Given the description of an element on the screen output the (x, y) to click on. 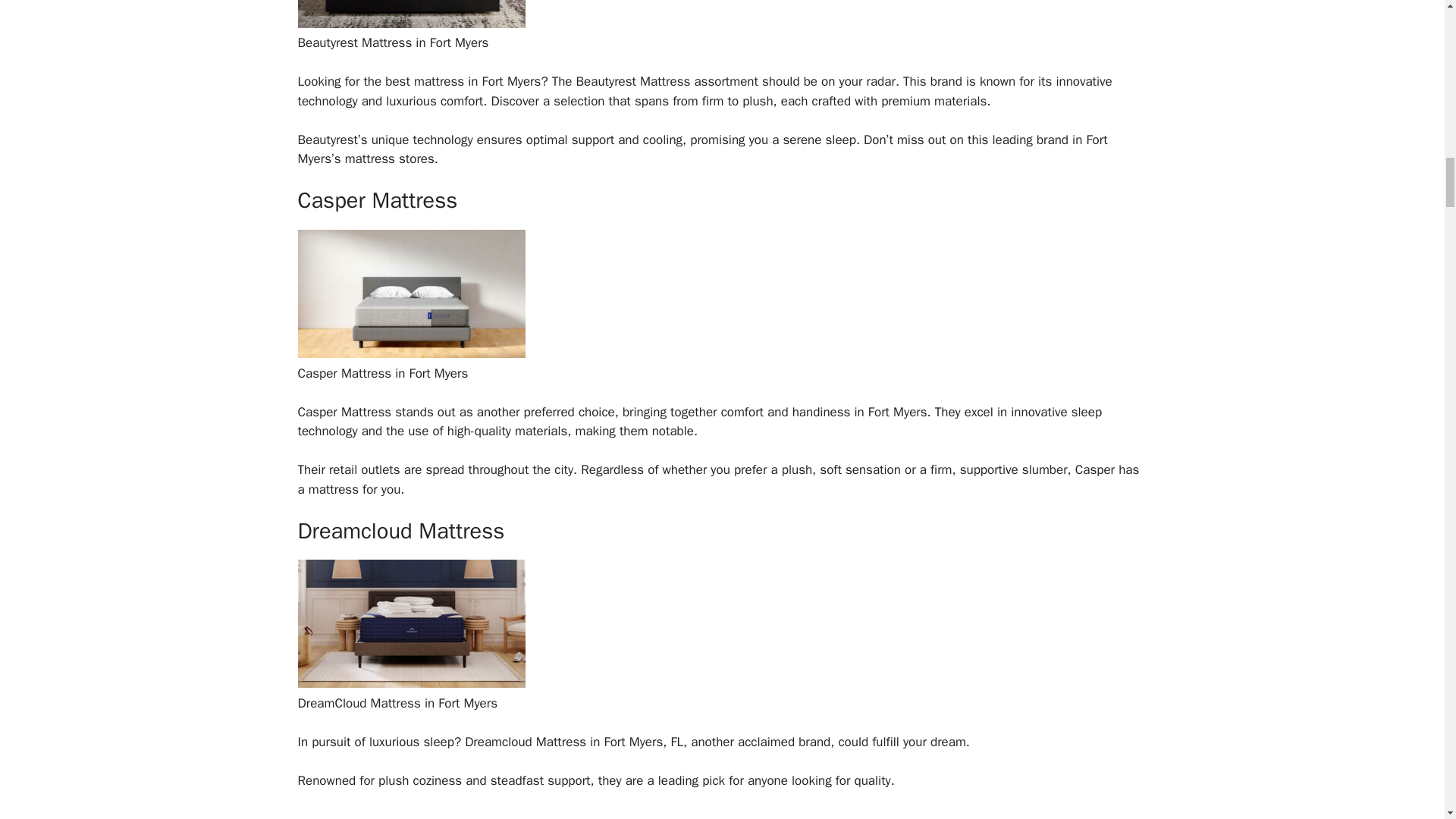
DreamCloud Mattress Near Me in Fort Myers (410, 683)
Casper Mattress Fort Myers (410, 353)
Beautyrest Mattress Fort Myers (410, 23)
